Given the description of an element on the screen output the (x, y) to click on. 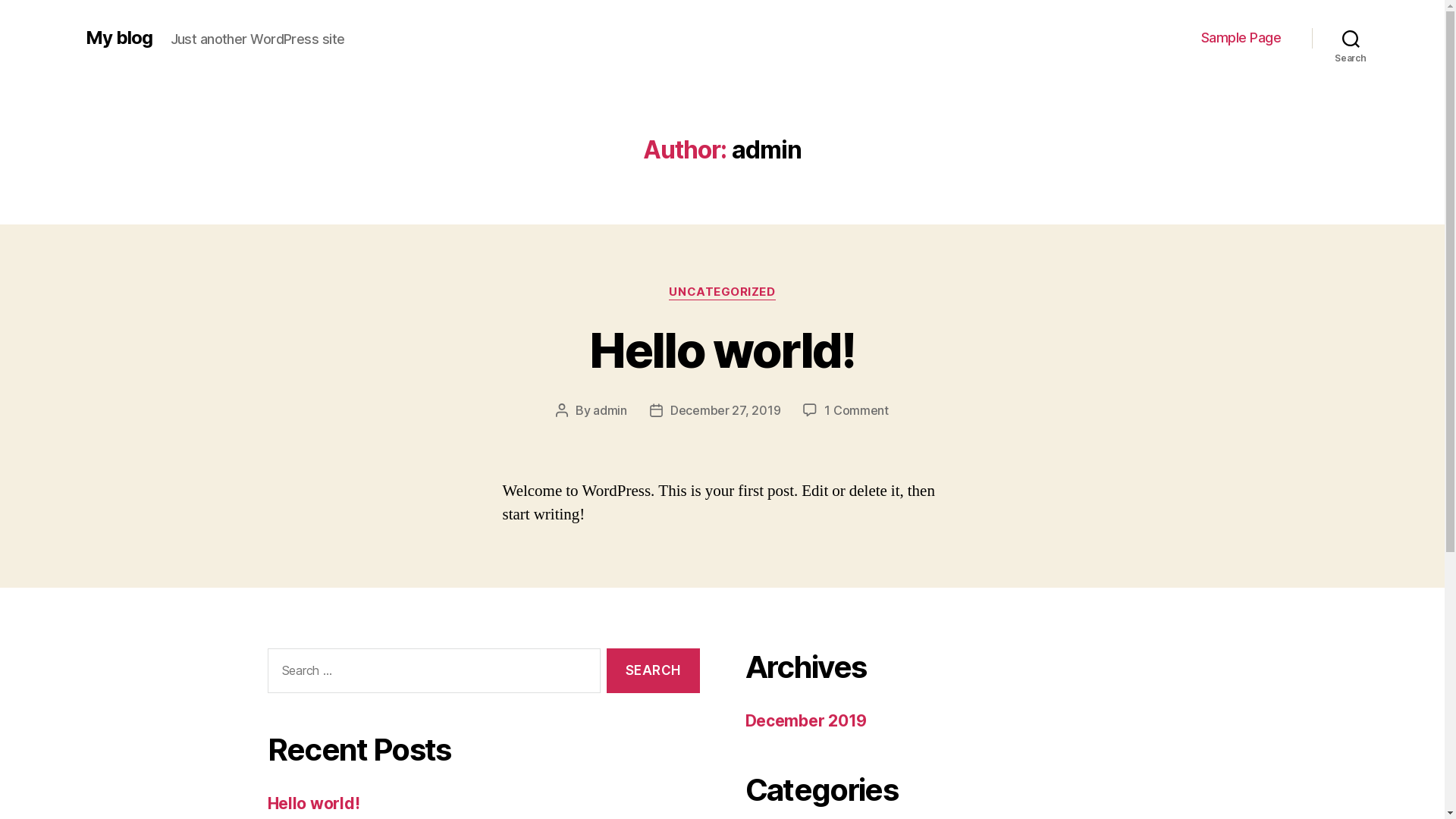
Hello world! Element type: text (721, 349)
December 2019 Element type: text (805, 720)
Hello world! Element type: text (312, 802)
UNCATEGORIZED Element type: text (721, 292)
Sample Page Element type: text (1241, 37)
Search Element type: text (1350, 37)
admin Element type: text (610, 409)
December 27, 2019 Element type: text (725, 409)
1 Comment
on Hello world! Element type: text (856, 409)
Search Element type: text (652, 670)
My blog Element type: text (117, 37)
